Given the description of an element on the screen output the (x, y) to click on. 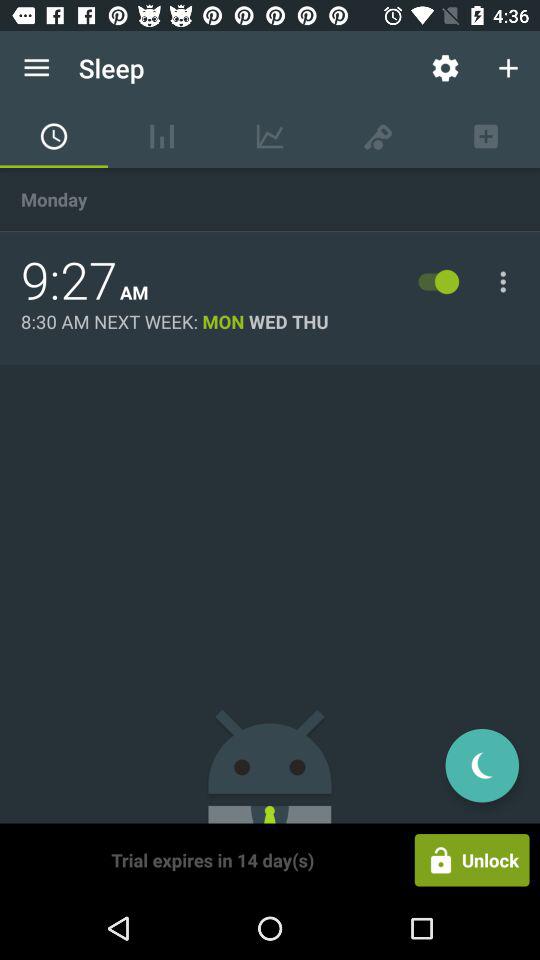
press the icon above the unlock (482, 765)
